Given the description of an element on the screen output the (x, y) to click on. 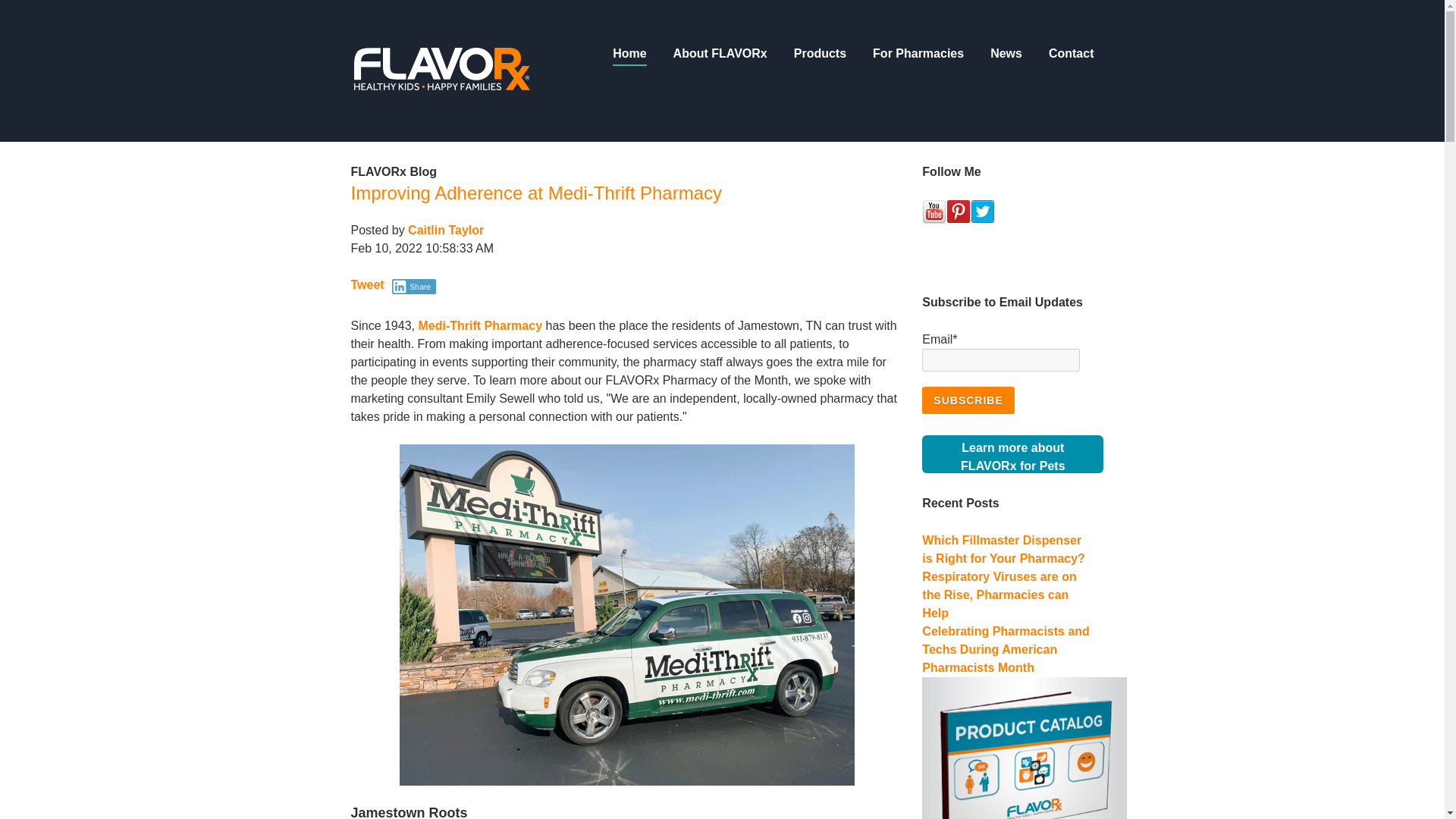
Learn more about  FLAVORx for Pets (1012, 453)
About FLAVORx (719, 56)
Respiratory Viruses are on the Rise, Pharmacies can Help (998, 594)
Follow us on Pinterest (958, 211)
Follow us on Twitter (1012, 453)
Contact (982, 211)
Home (1071, 56)
Caitlin Taylor (629, 56)
FLAVORx Pharmacies (445, 229)
News (441, 69)
FLAVORx (1006, 56)
Subscribe (441, 70)
Improving Adherence at Medi-Thrift Pharmacy (967, 400)
Follow us on YouTube (536, 192)
